Given the description of an element on the screen output the (x, y) to click on. 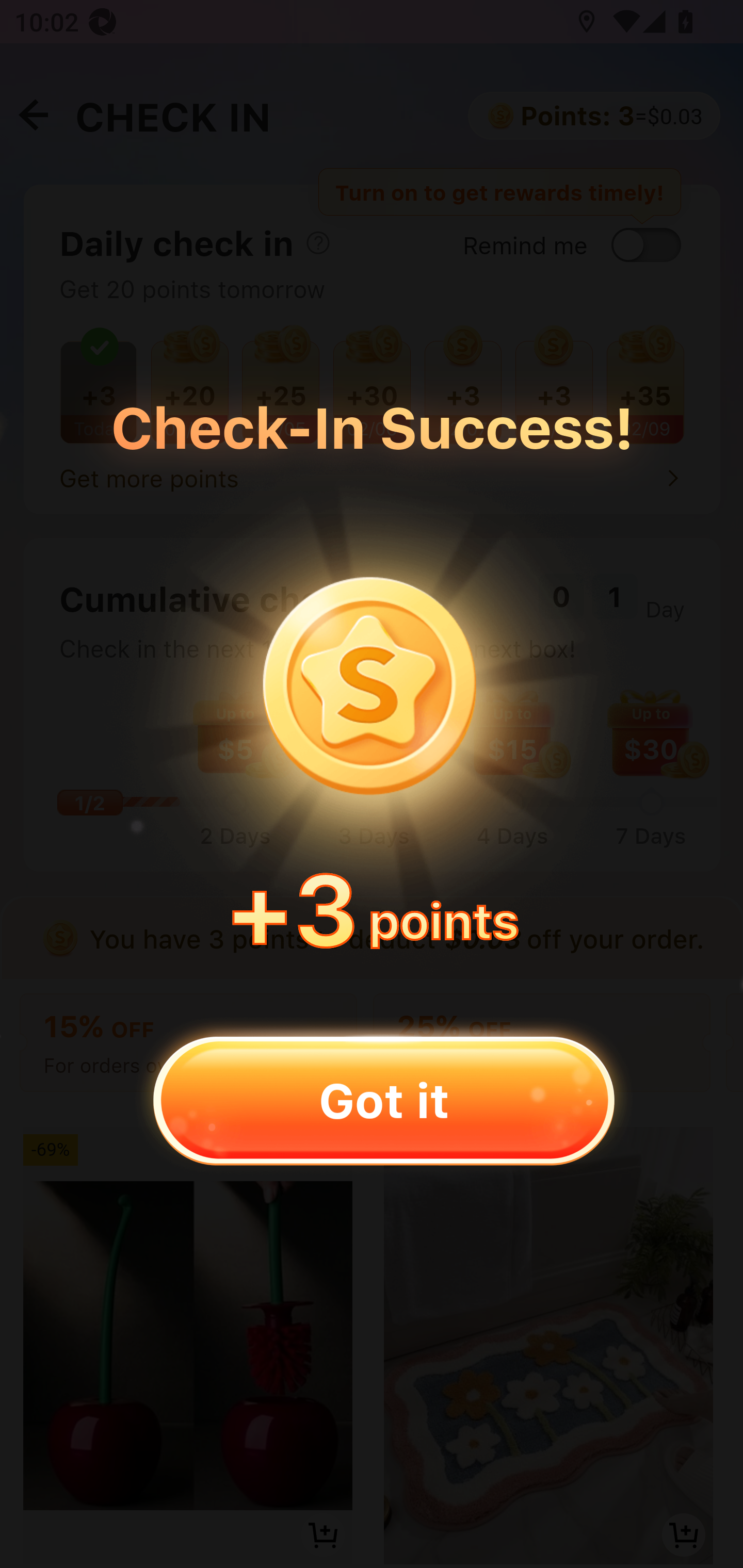
Got it (383, 1099)
